Given the description of an element on the screen output the (x, y) to click on. 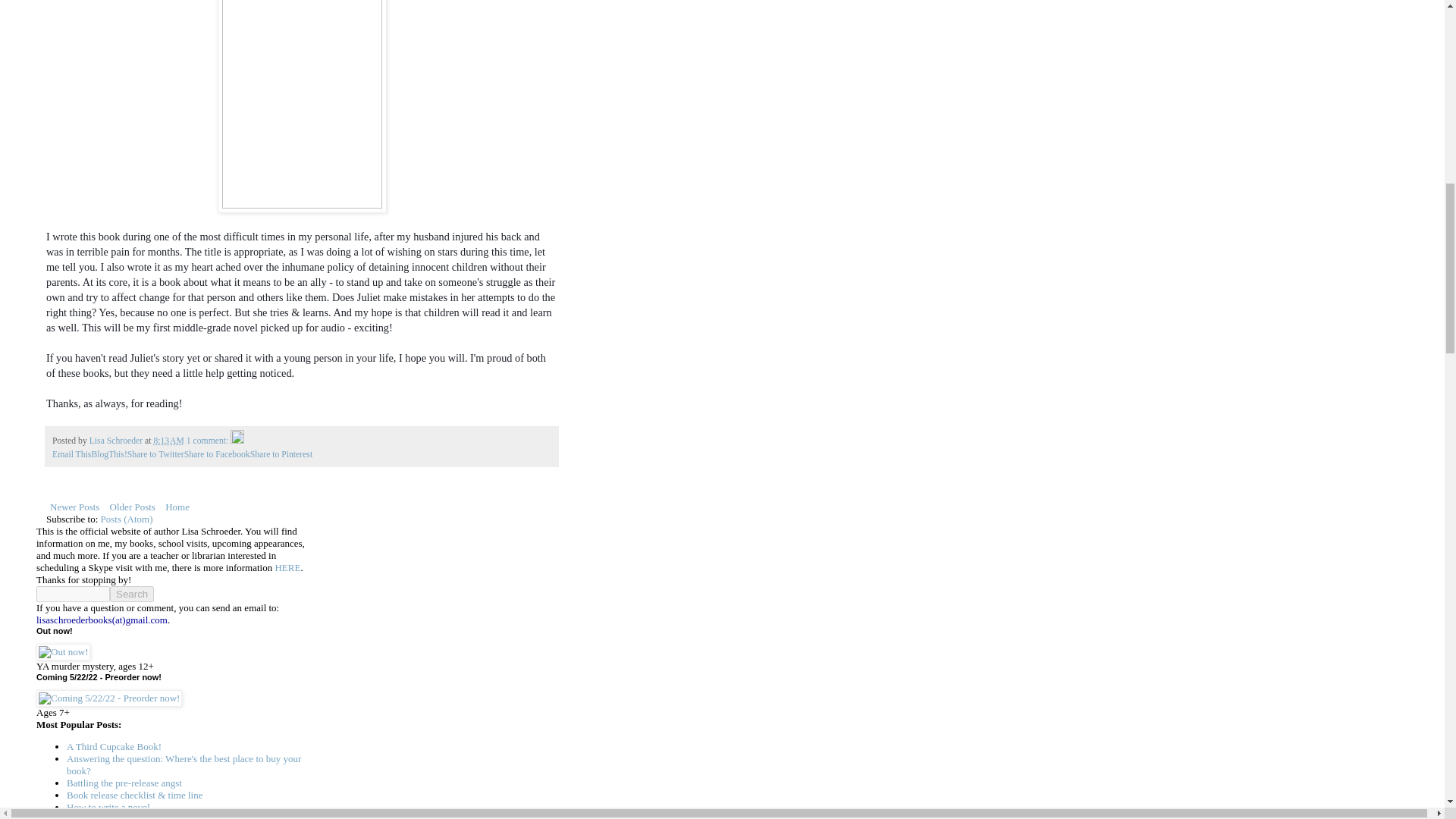
permanent link (167, 440)
author profile (116, 440)
How to write a novel (107, 807)
Older Posts (132, 506)
Newer Posts (74, 506)
Share to Facebook (217, 454)
Home (177, 506)
BlogThis! (108, 454)
Email This (71, 454)
Share to Pinterest (281, 454)
